Given the description of an element on the screen output the (x, y) to click on. 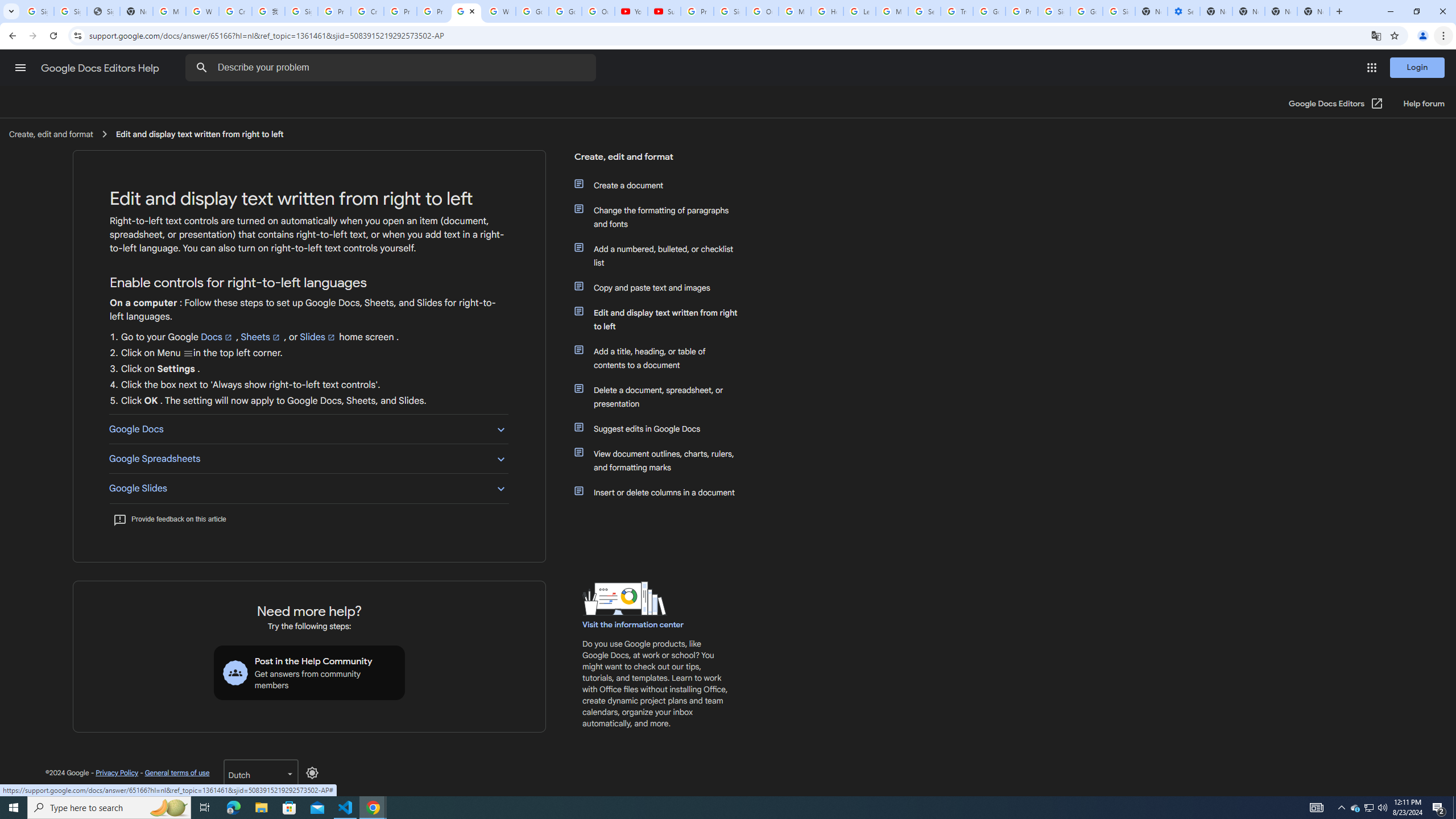
Docs (217, 337)
Welcome to My Activity (499, 11)
Describe your problem (391, 67)
Google Cybersecurity Innovations - Google Safety Center (1086, 11)
Who is my administrator? - Google Account Help (202, 11)
Google Spreadsheets (308, 458)
Google Docs (308, 428)
Login (1417, 67)
Google Ads - Sign in (989, 11)
